Given the description of an element on the screen output the (x, y) to click on. 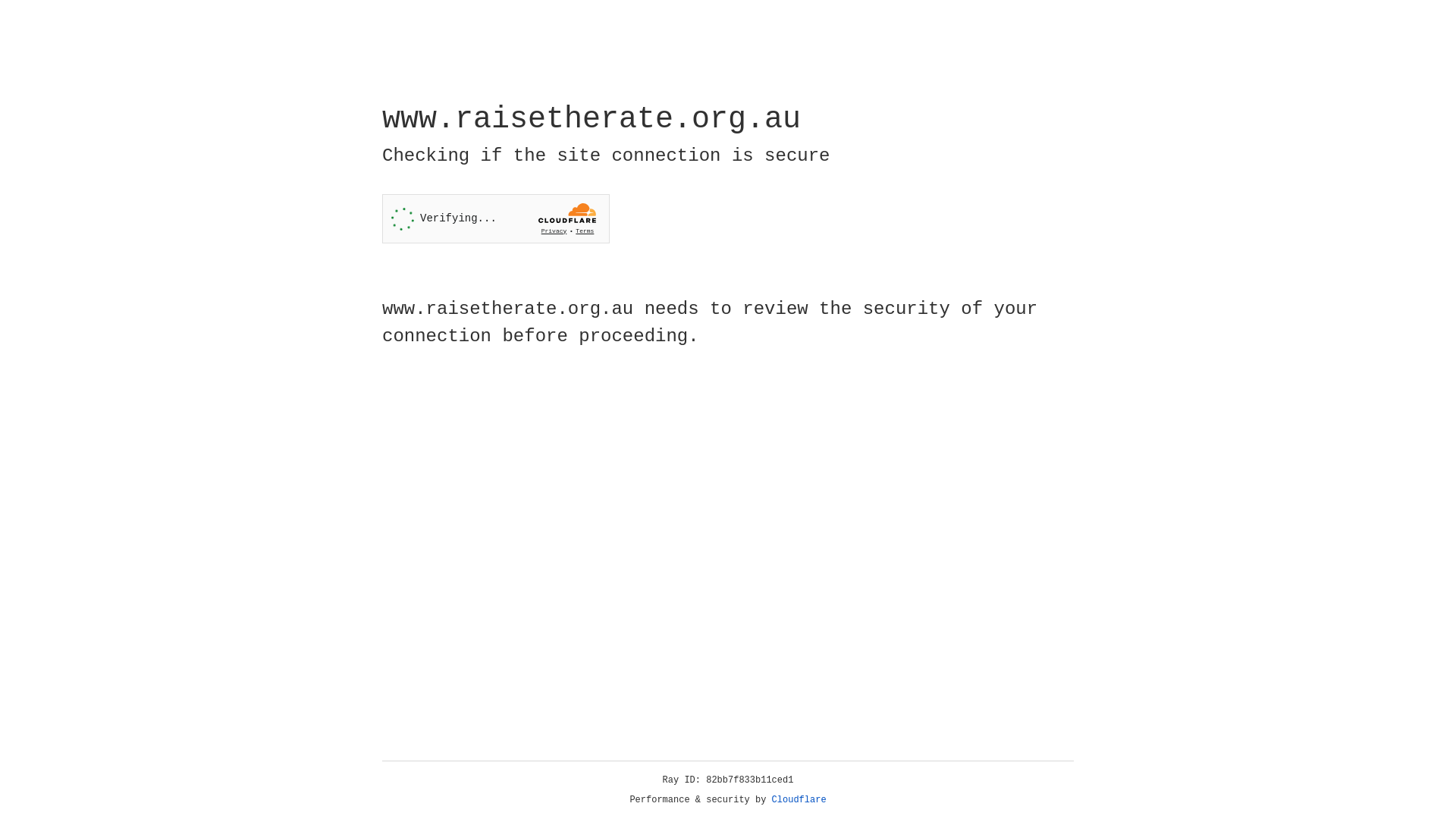
Widget containing a Cloudflare security challenge Element type: hover (495, 218)
Cloudflare Element type: text (798, 799)
